Given the description of an element on the screen output the (x, y) to click on. 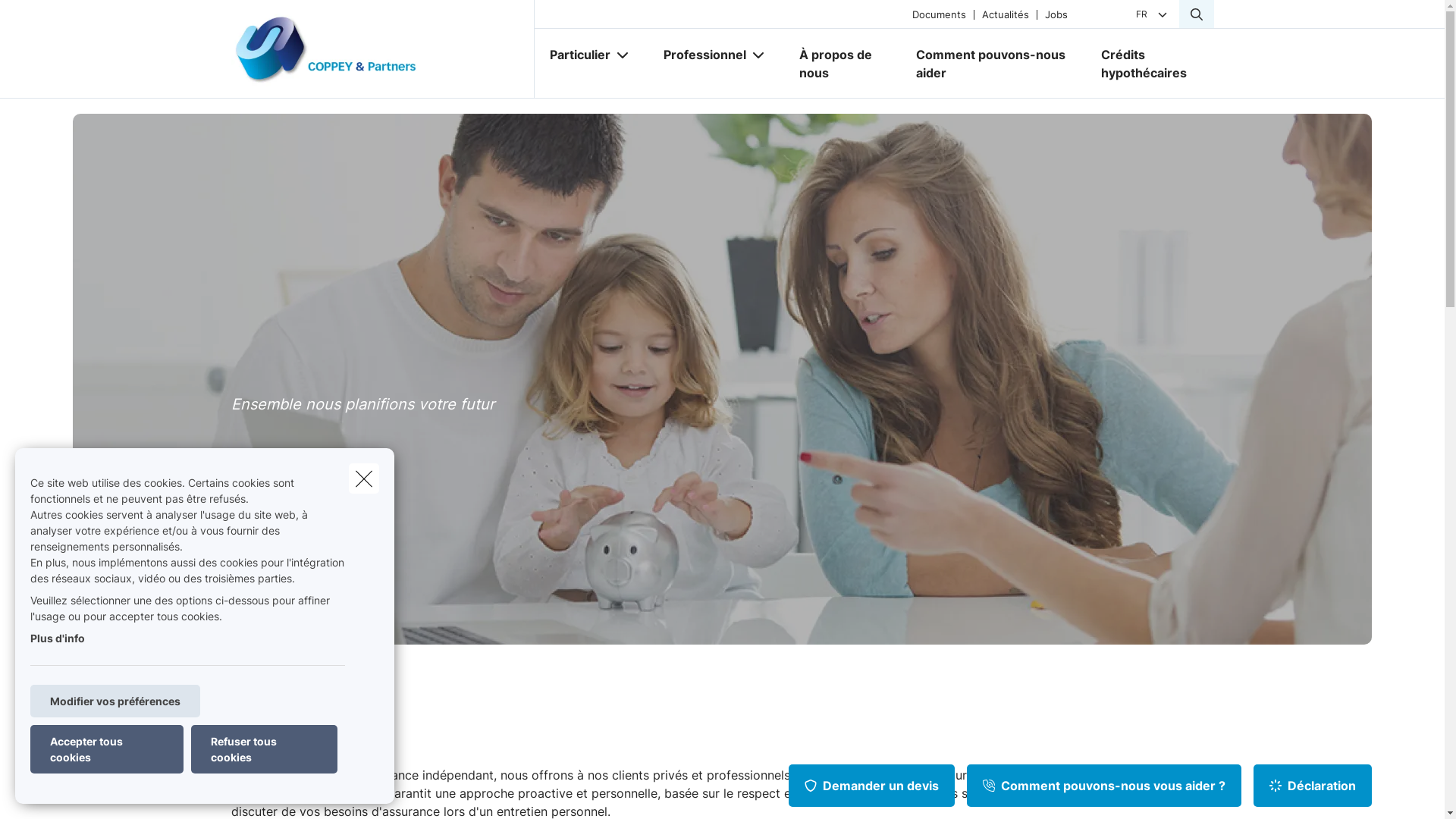
Accepter tous cookies Element type: text (106, 748)
Comment pouvons-nous aider Element type: text (992, 63)
Rechercher Element type: text (54, 18)
Jobs Element type: text (1054, 13)
Comment pouvons-nous vous aider ? Element type: text (1103, 785)
Refuser tous cookies Element type: text (264, 748)
Particulier Element type: text (573, 54)
Plus d'info Element type: text (57, 637)
Documents Element type: text (937, 13)
Demander un devis Element type: text (871, 785)
Professionnel Element type: text (698, 54)
